Given the description of an element on the screen output the (x, y) to click on. 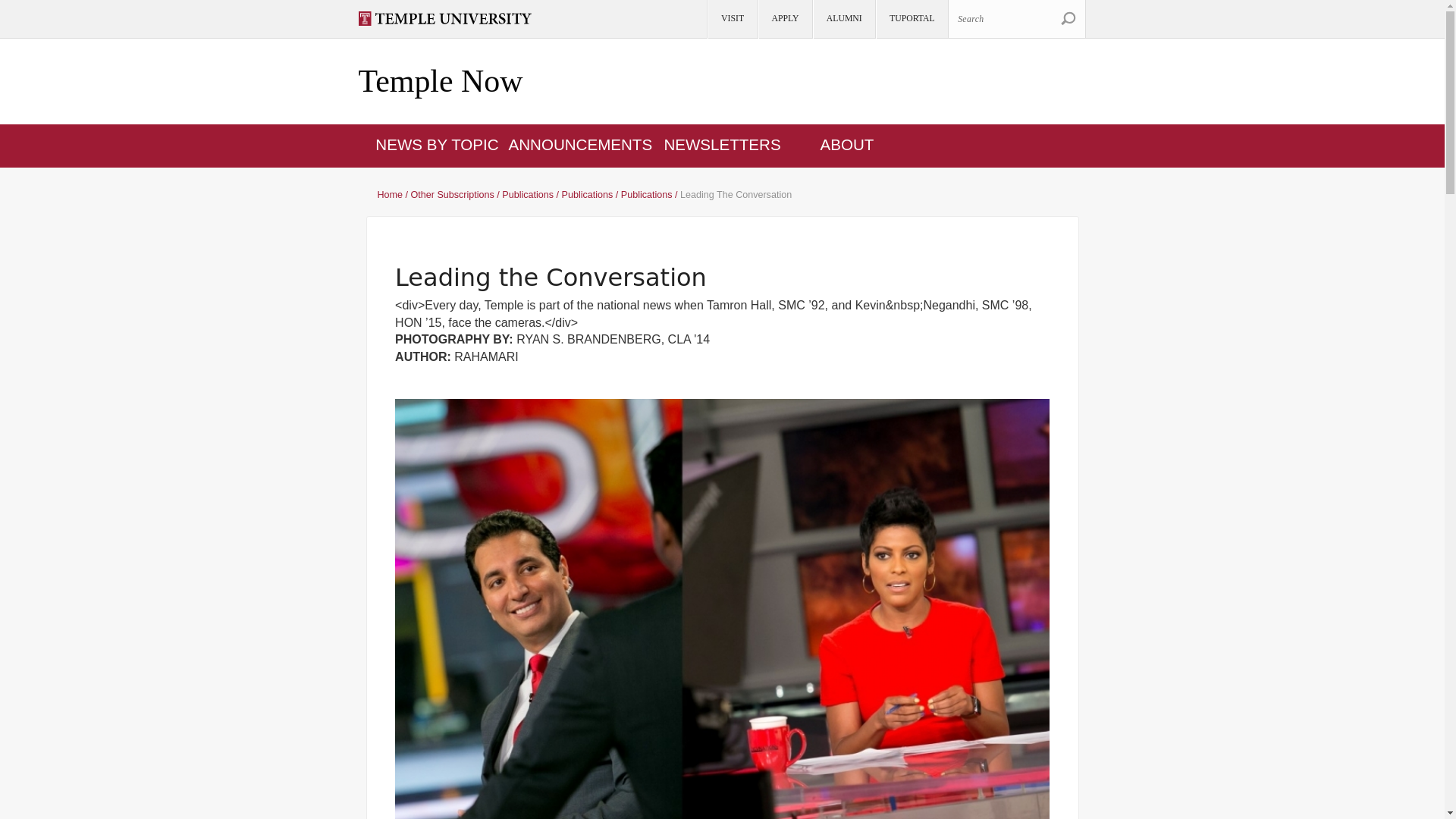
Search Site (1067, 18)
APPLY (784, 19)
Visit Temple.edu (451, 18)
Home (440, 81)
ALUMNI (843, 19)
ANNOUNCEMENTS (580, 144)
VISIT (731, 19)
Search (1016, 18)
Temple Now (440, 81)
Search (1067, 18)
